Given the description of an element on the screen output the (x, y) to click on. 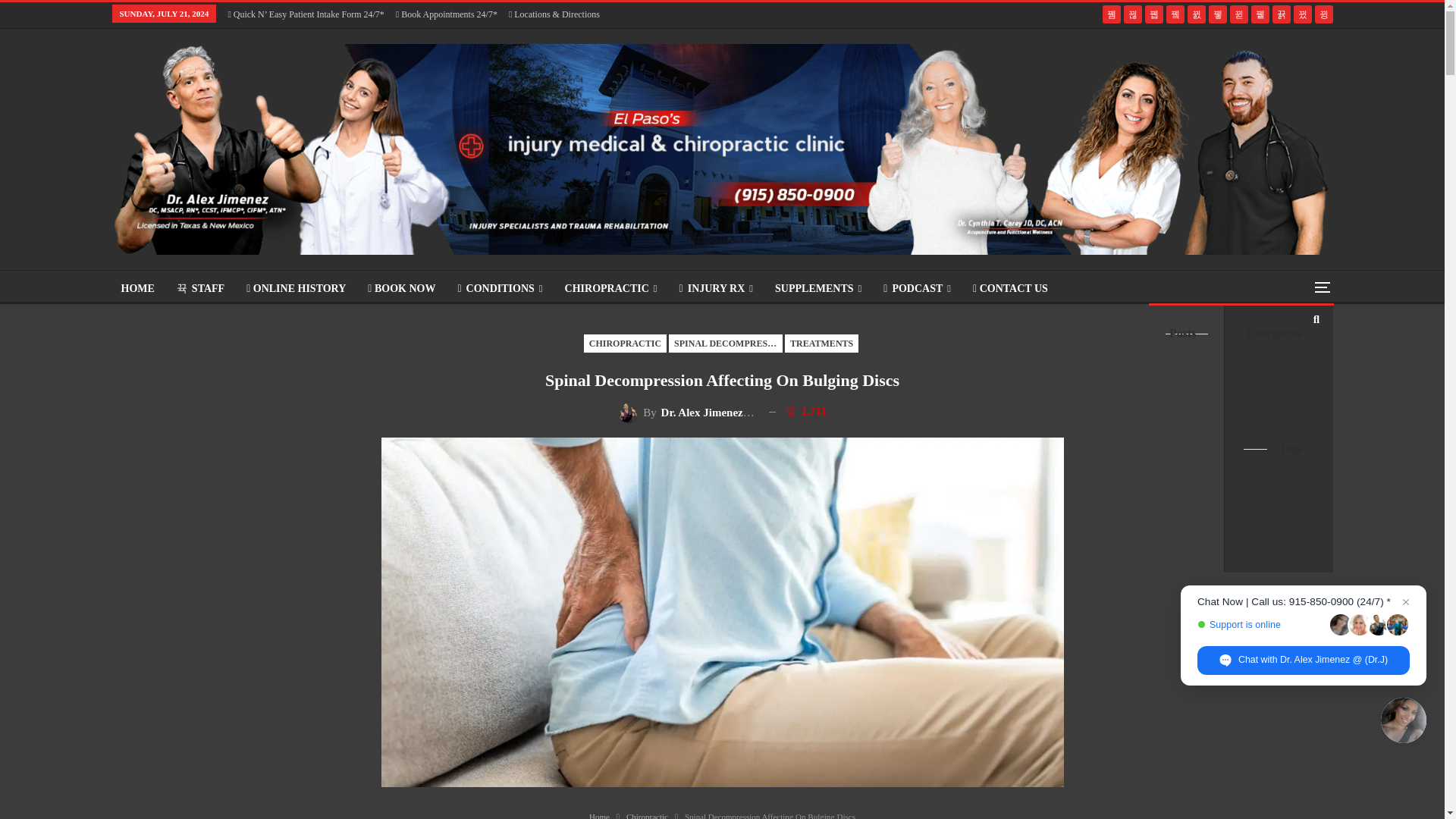
Browse Author Articles (687, 411)
